Given the description of an element on the screen output the (x, y) to click on. 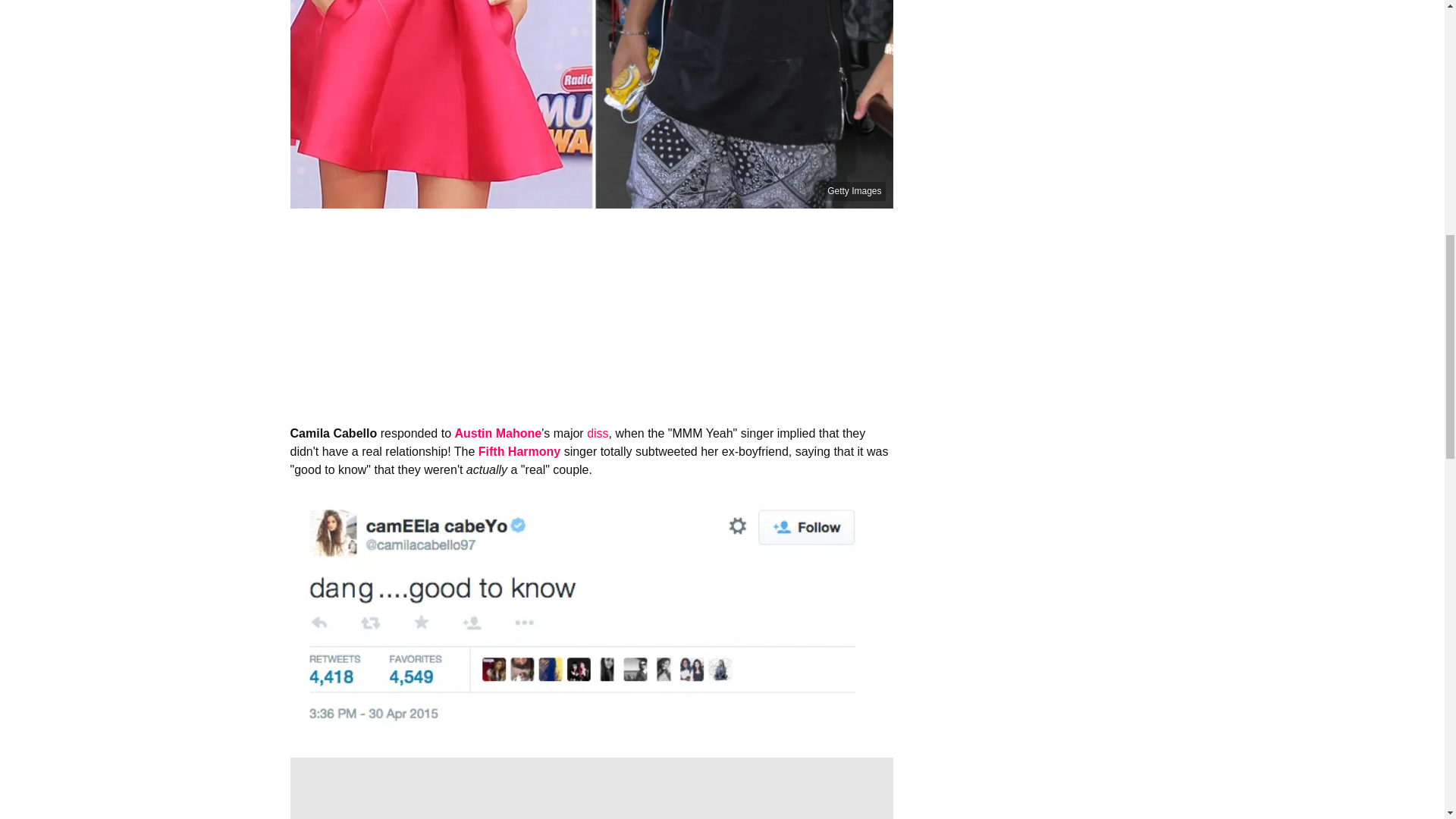
Austin Mahone (497, 432)
Fifth Harmony (519, 451)
diss (597, 432)
